Given the description of an element on the screen output the (x, y) to click on. 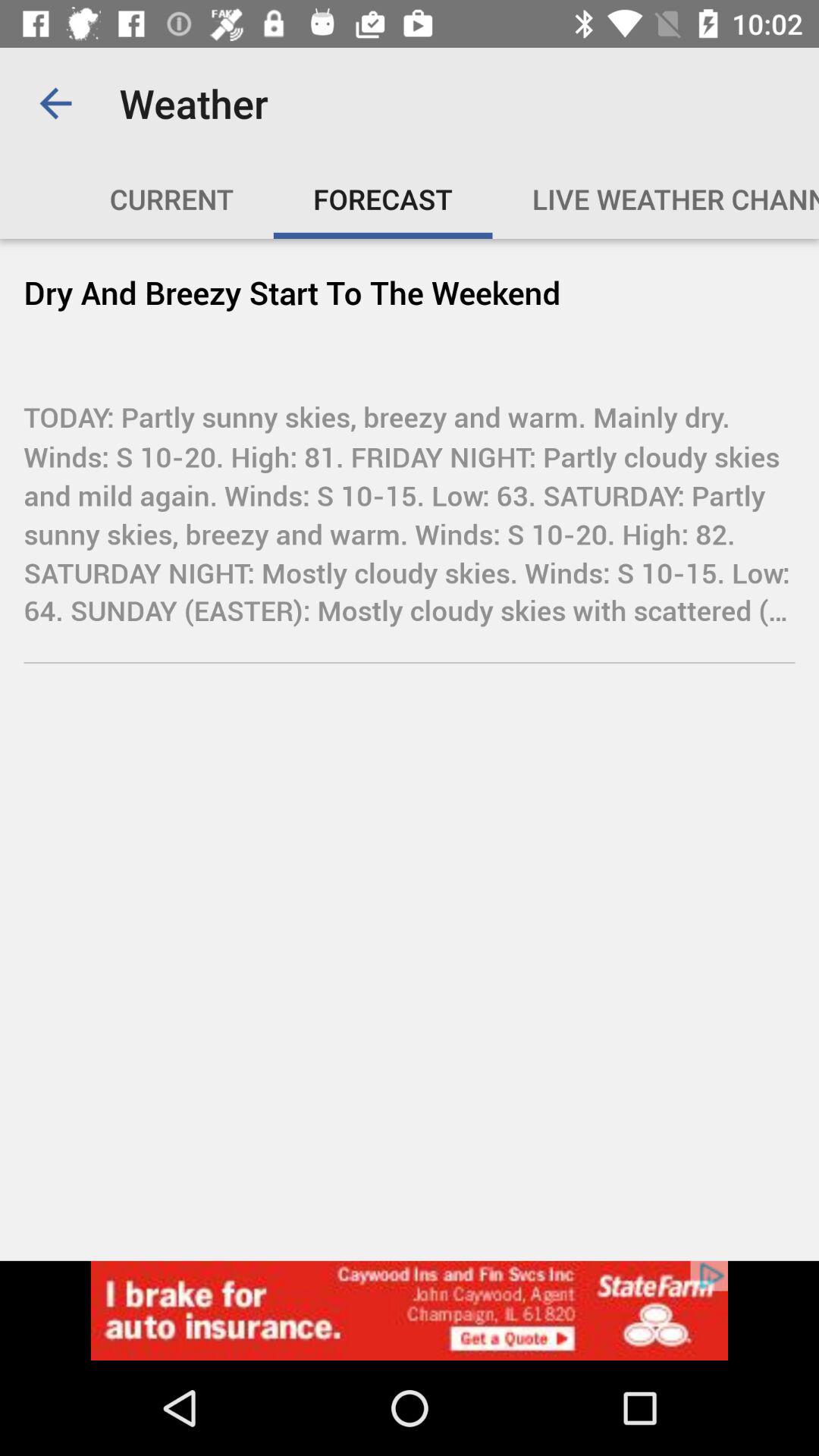
visit advertiser website (409, 1310)
